Given the description of an element on the screen output the (x, y) to click on. 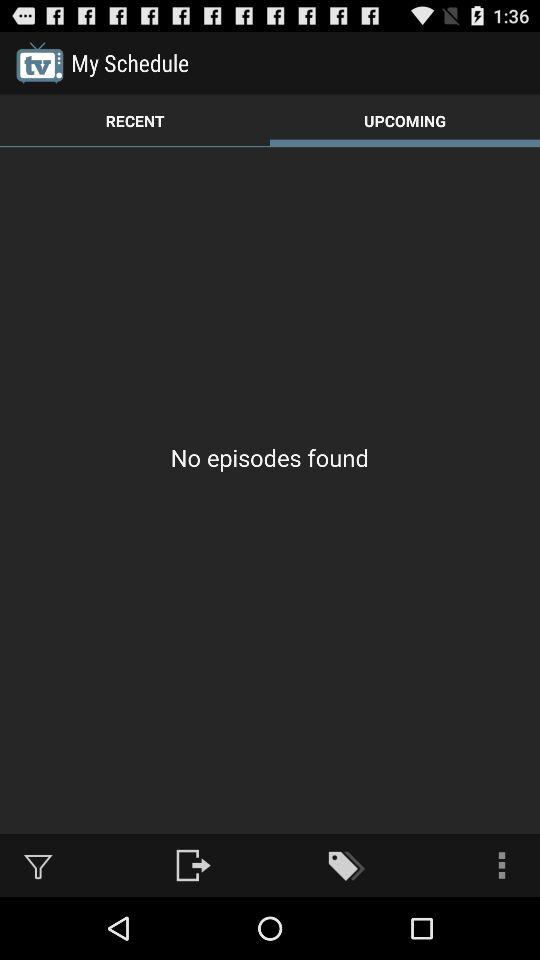
tap app above the no episodes found icon (405, 120)
